Given the description of an element on the screen output the (x, y) to click on. 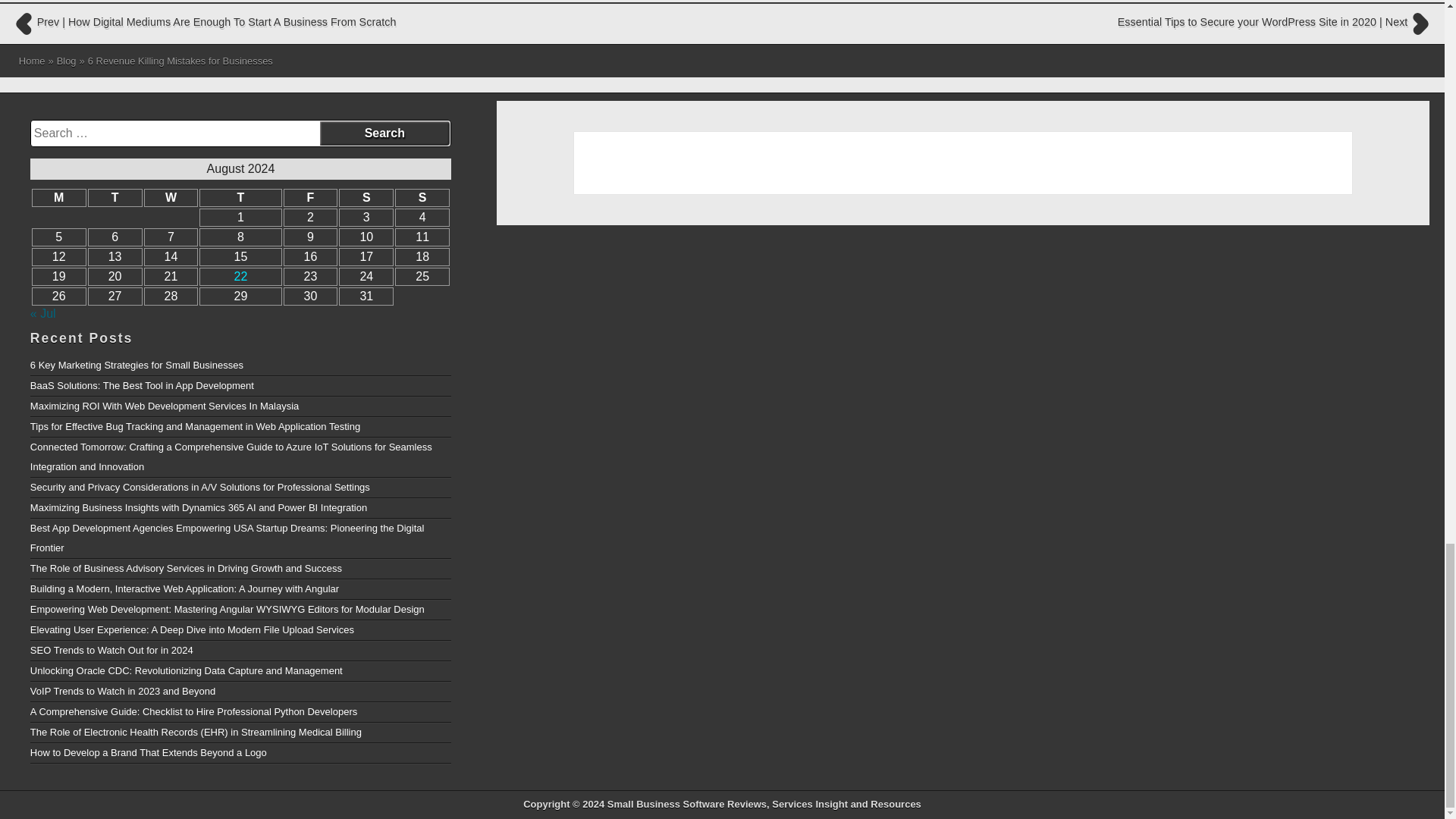
Friday (310, 198)
BaaS Solutions: The Best Tool in App Development (240, 385)
Search (384, 133)
Search (384, 133)
6 Revenue Killing Mistakes for Businesses (180, 60)
